Given the description of an element on the screen output the (x, y) to click on. 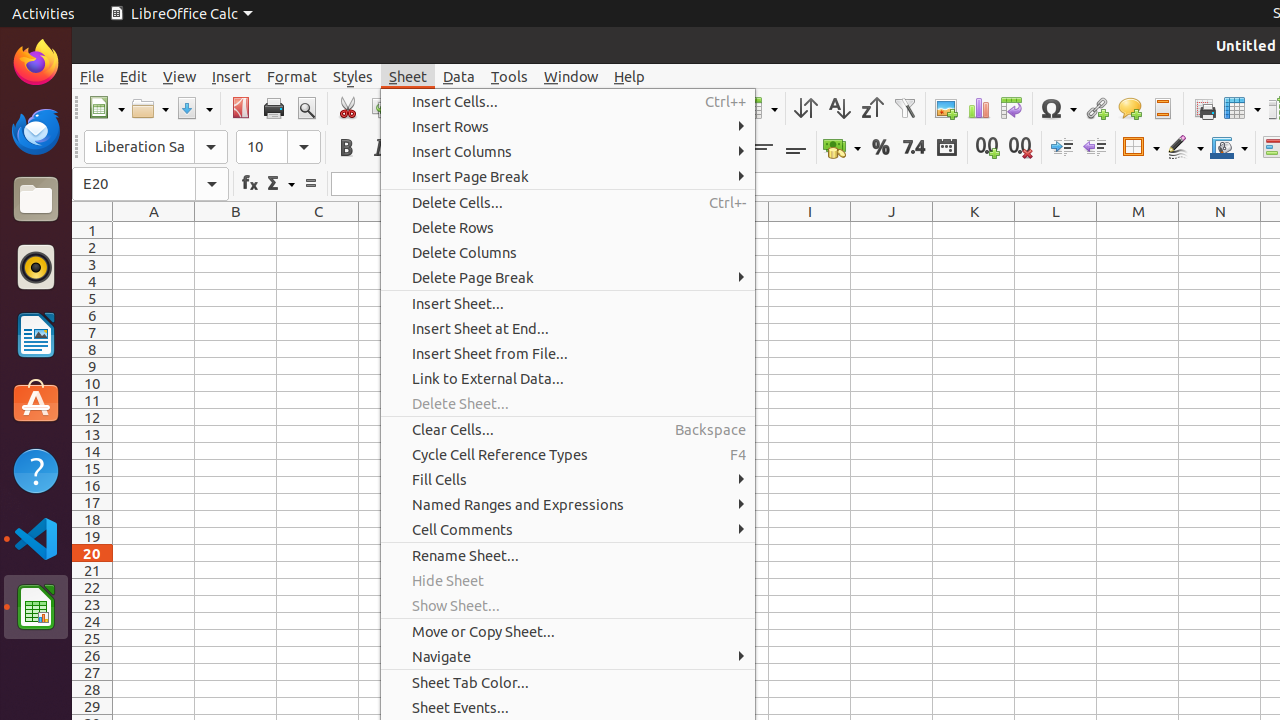
L1 Element type: table-cell (1056, 230)
Pivot Table Element type: push-button (1011, 108)
Save Element type: push-button (194, 108)
Select Function Element type: push-button (280, 183)
Sheet Events... Element type: menu-item (568, 707)
